Given the description of an element on the screen output the (x, y) to click on. 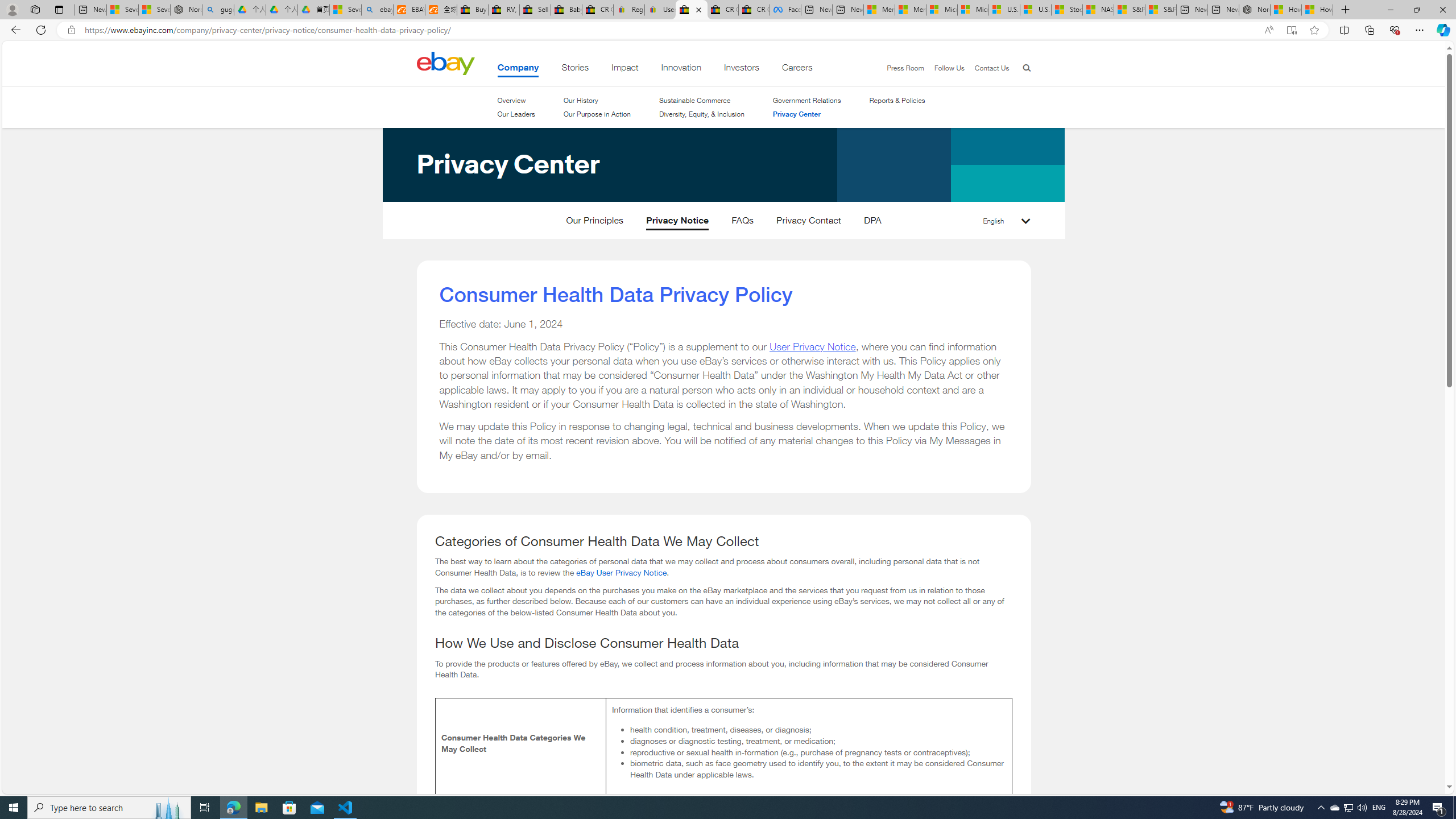
RV, Trailer & Camper Steps & Ladders for sale | eBay (503, 9)
Careers (796, 69)
User Privacy Notice | eBay (660, 9)
Sustainable Commerce (694, 99)
Privacy Center (806, 113)
Home (445, 63)
Reports & Policies (897, 100)
Follow Us (943, 68)
